Given the description of an element on the screen output the (x, y) to click on. 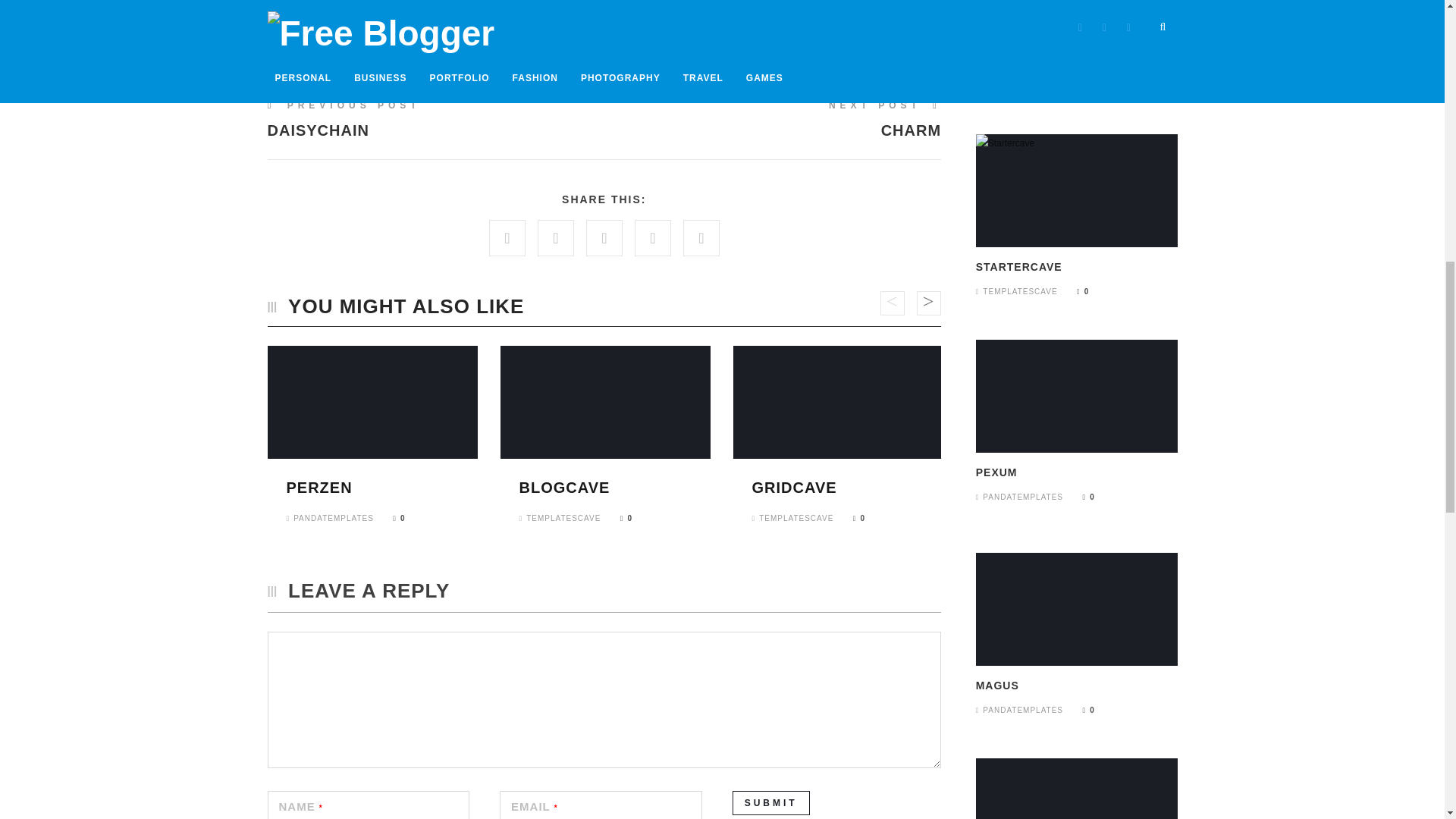
0 (387, 118)
RESPONSIVE (398, 518)
Comment on Perzen (416, 45)
Gridcave (884, 118)
Blogcave (398, 518)
PANDATEMPLATES (794, 487)
GREY (564, 487)
BLOGCAVE (330, 518)
Submit (347, 45)
Perzen (564, 487)
PERZEN (770, 802)
Comment on Blogcave (319, 487)
SEO FRIENDLY (319, 487)
